Given the description of an element on the screen output the (x, y) to click on. 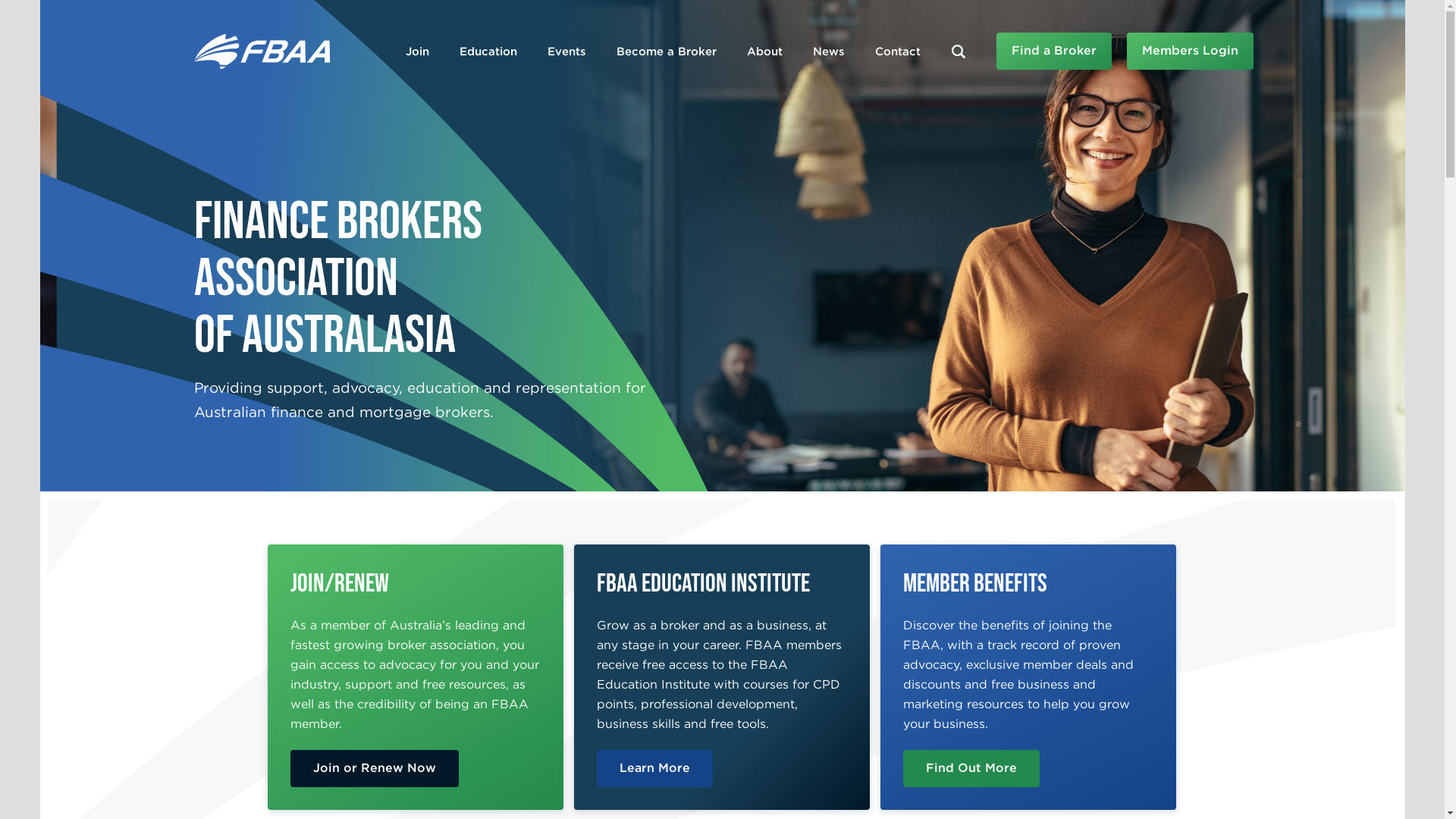
Learn More Element type: text (654, 768)
News Element type: text (828, 51)
Events Element type: text (566, 51)
Education Element type: text (488, 51)
Find a Broker Element type: text (1053, 50)
Join or Renew Now Element type: text (373, 768)
Members Login Element type: text (1189, 50)
Contact Element type: text (897, 51)
Become a Broker Element type: text (665, 51)
Join Element type: text (416, 51)
About Element type: text (764, 51)
Find Out More Element type: text (971, 768)
